Given the description of an element on the screen output the (x, y) to click on. 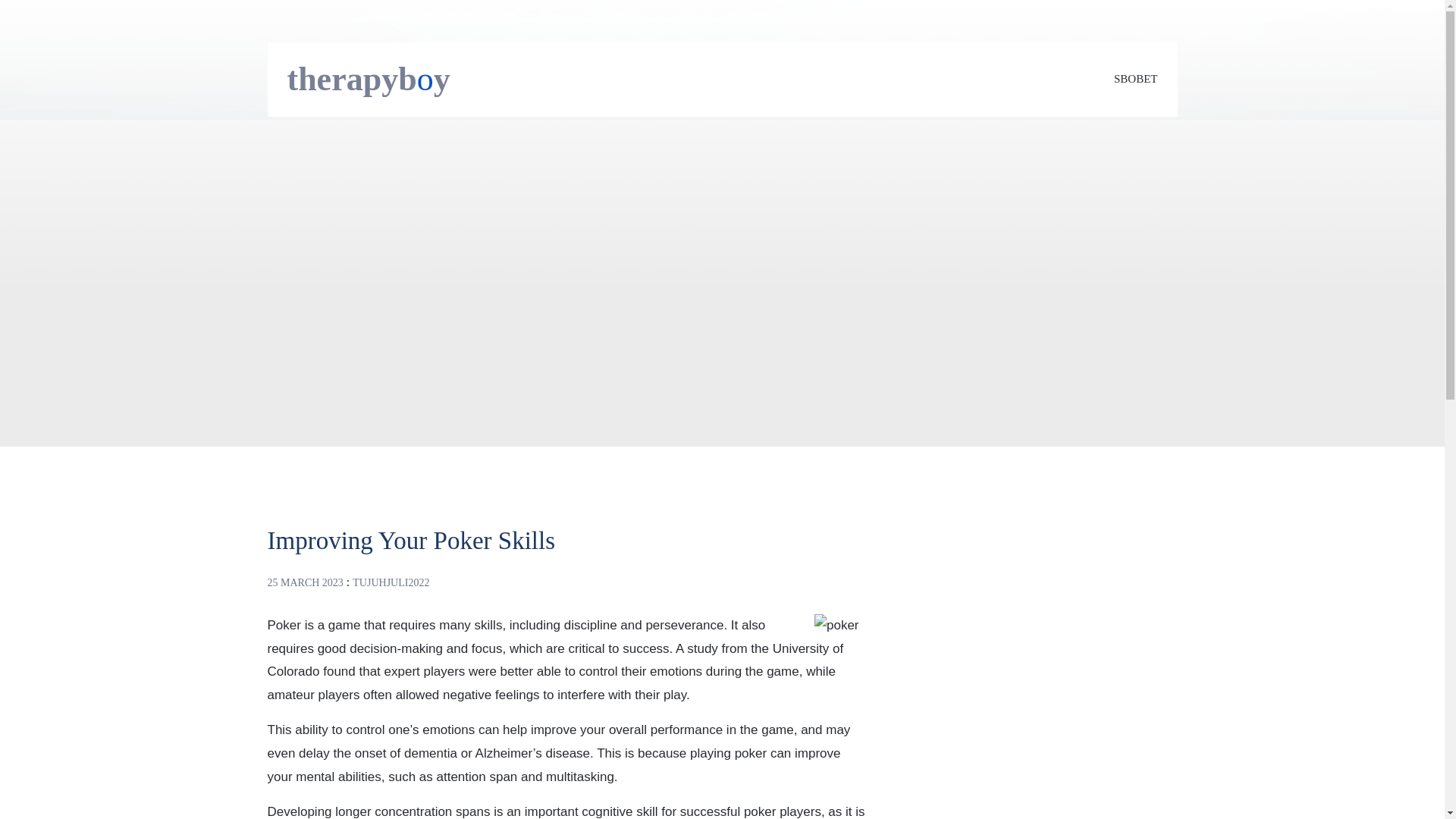
therapyboy (367, 78)
25 MARCH 2023 (304, 582)
TUJUHJULI2022 (390, 582)
SBOBET (1135, 78)
